Given the description of an element on the screen output the (x, y) to click on. 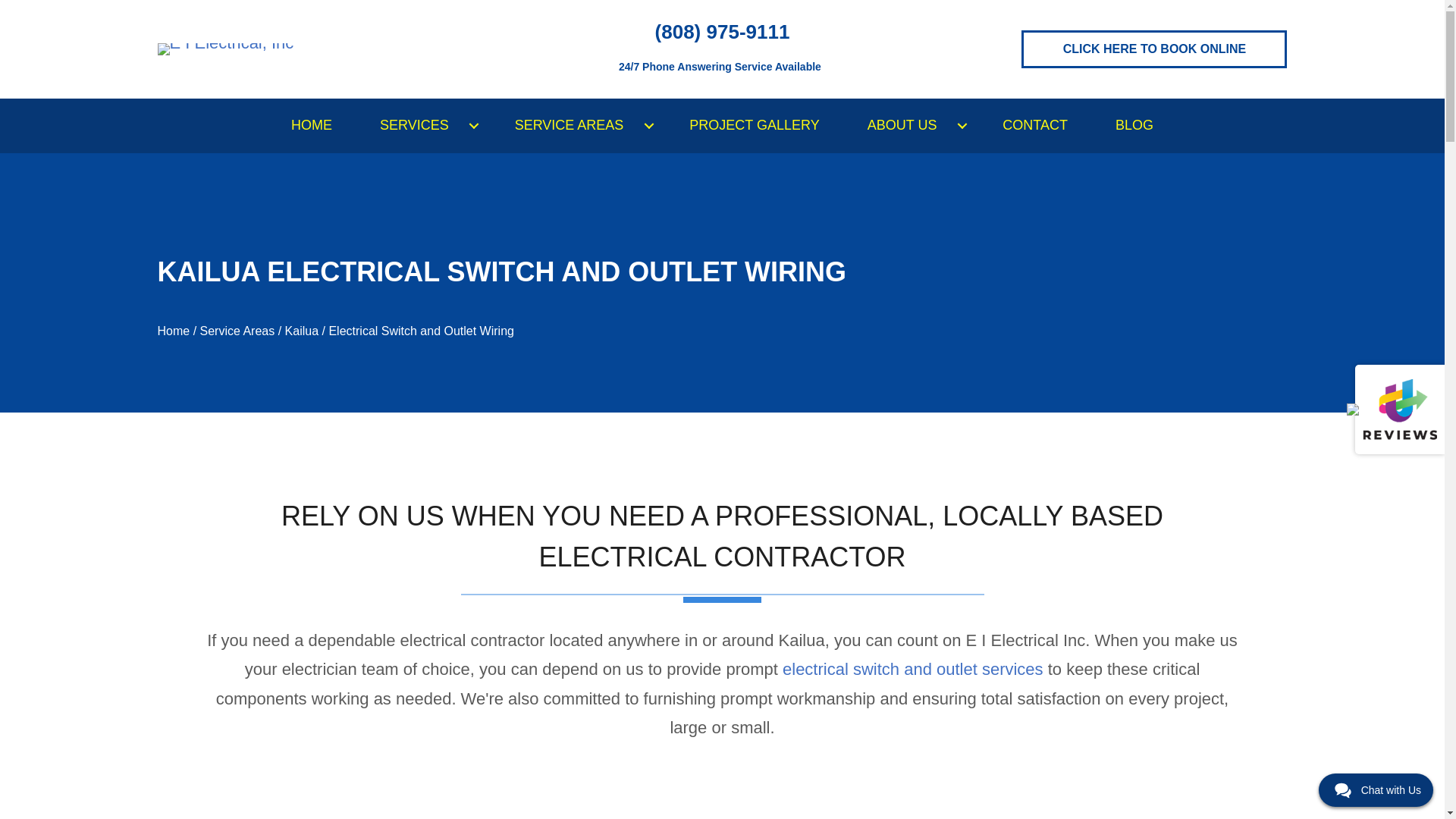
CLICK HERE TO BOOK ONLINE (1154, 48)
HOME (310, 125)
E I Electrical, Inc (225, 49)
SERVICES (422, 125)
